Given the description of an element on the screen output the (x, y) to click on. 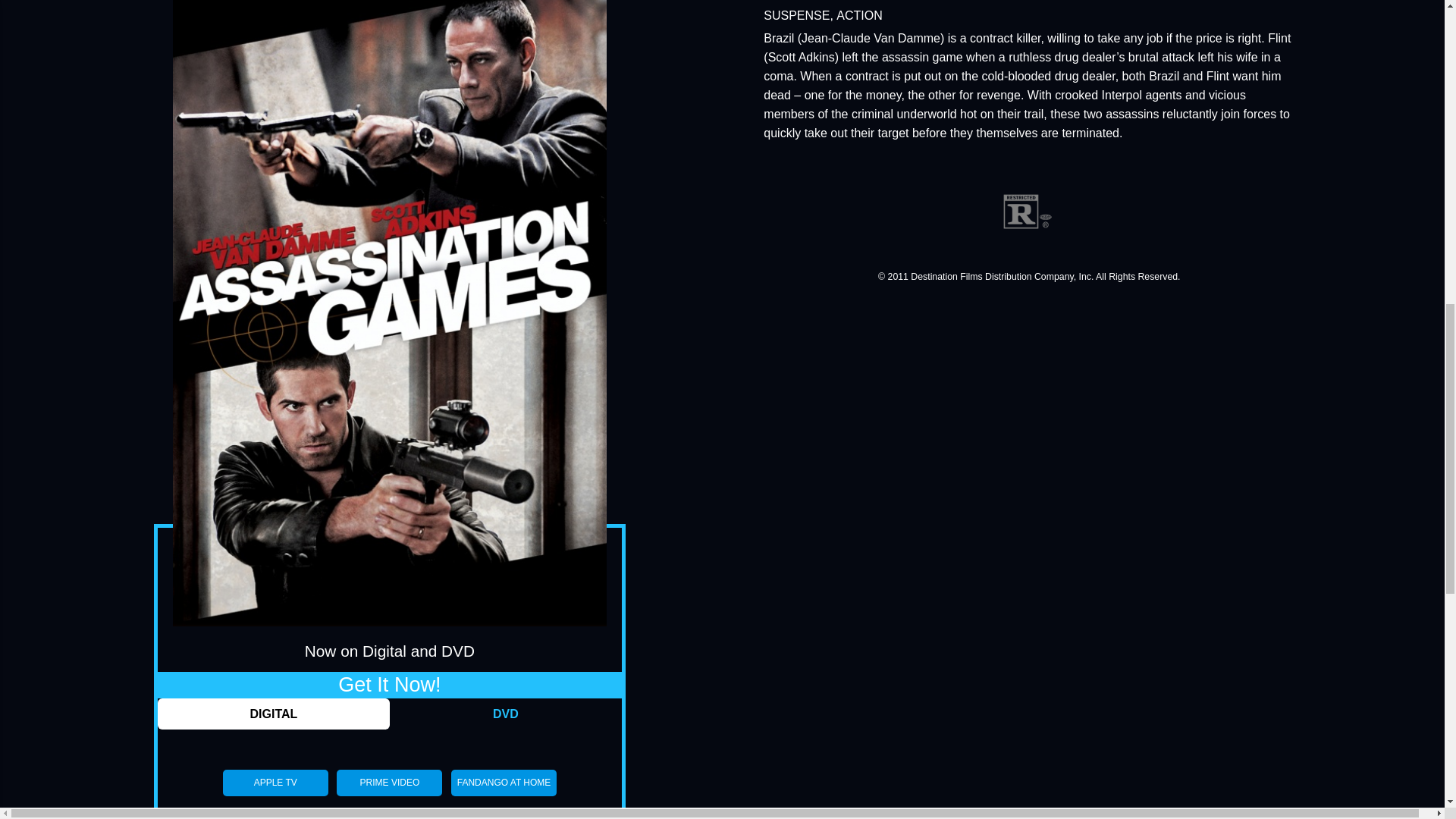
MICROSOFT (275, 813)
FANDANGO AT HOME (503, 782)
DIGITAL (273, 713)
VERIZON FIOS (389, 813)
APPLE TV (275, 782)
DVD (505, 713)
YOUTUBE (503, 813)
PRIME VIDEO (389, 782)
